Given the description of an element on the screen output the (x, y) to click on. 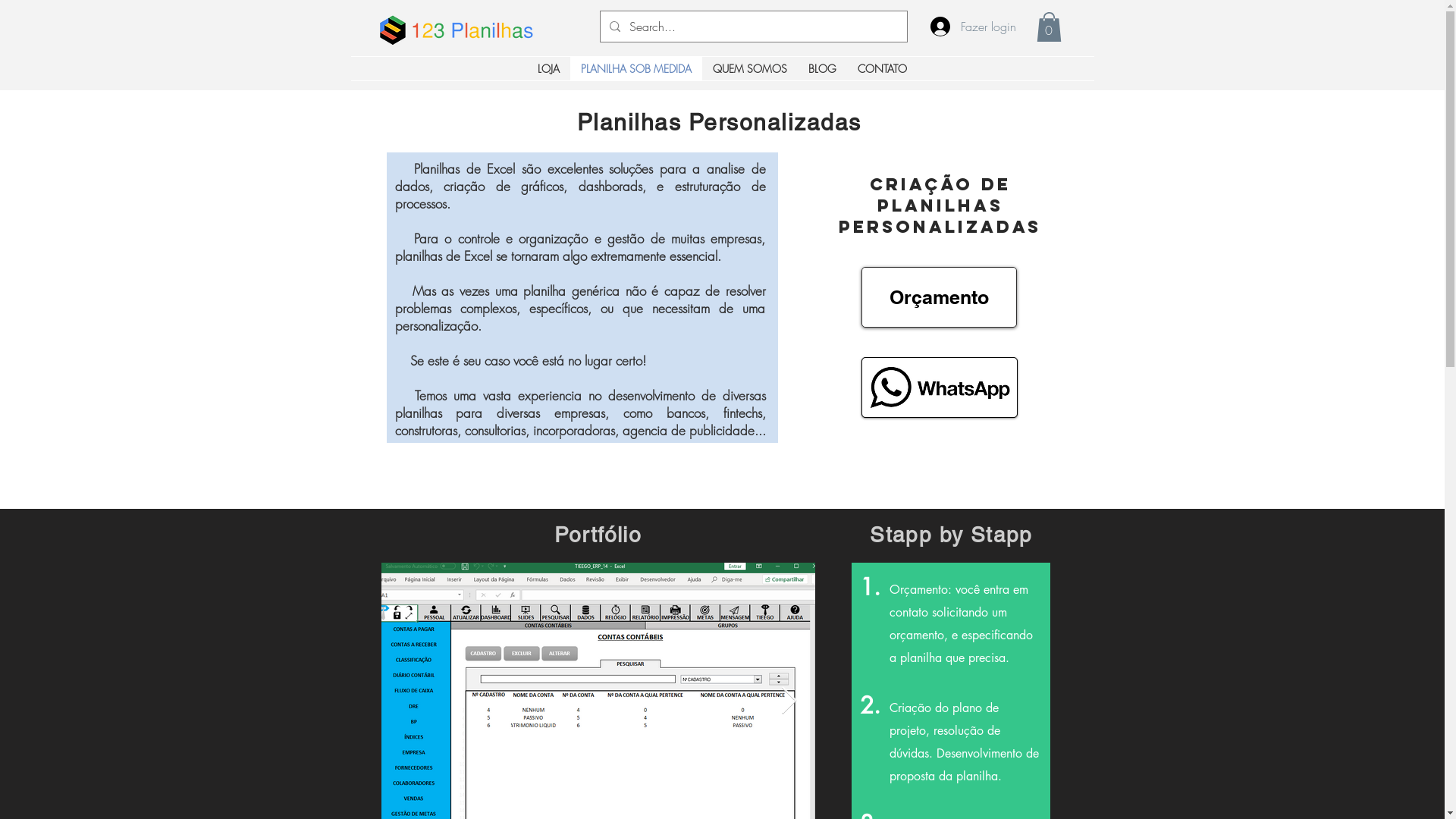
BLOG Element type: text (822, 68)
123 Planilhas -T.png Element type: hover (471, 30)
QUEM SOMOS Element type: text (749, 68)
XL ON LOGO T.png Element type: hover (391, 25)
PLANILHA SOB MEDIDA Element type: text (636, 68)
0 Element type: text (1047, 26)
LOJA Element type: text (548, 68)
Fazer login Element type: text (964, 26)
CONTATO Element type: text (882, 68)
